Given the description of an element on the screen output the (x, y) to click on. 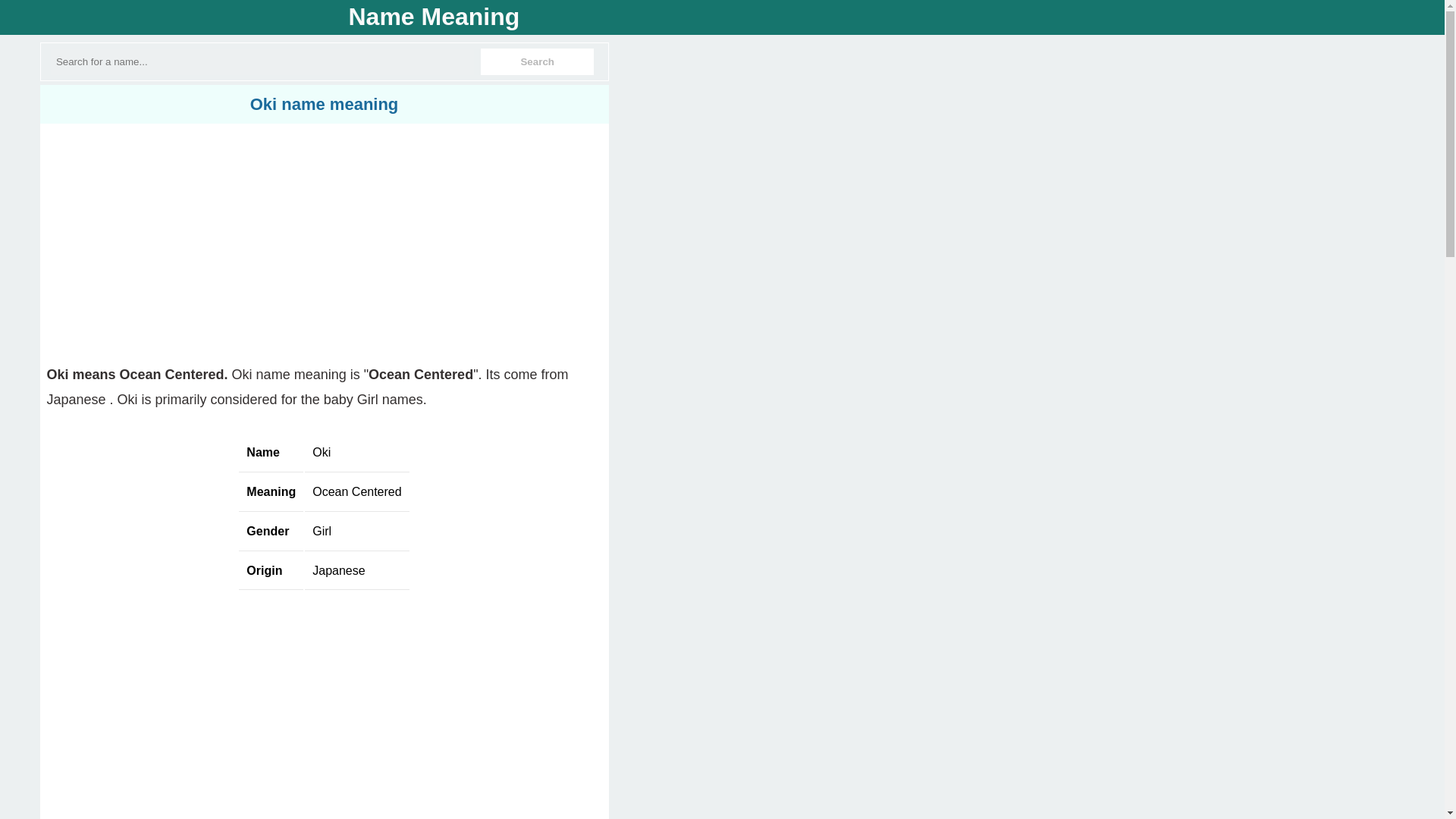
Name Meaning (434, 16)
Japanese  (340, 570)
Girl (322, 530)
Search (537, 61)
Oki name meaning (324, 104)
Search (537, 61)
Search (537, 61)
